Given the description of an element on the screen output the (x, y) to click on. 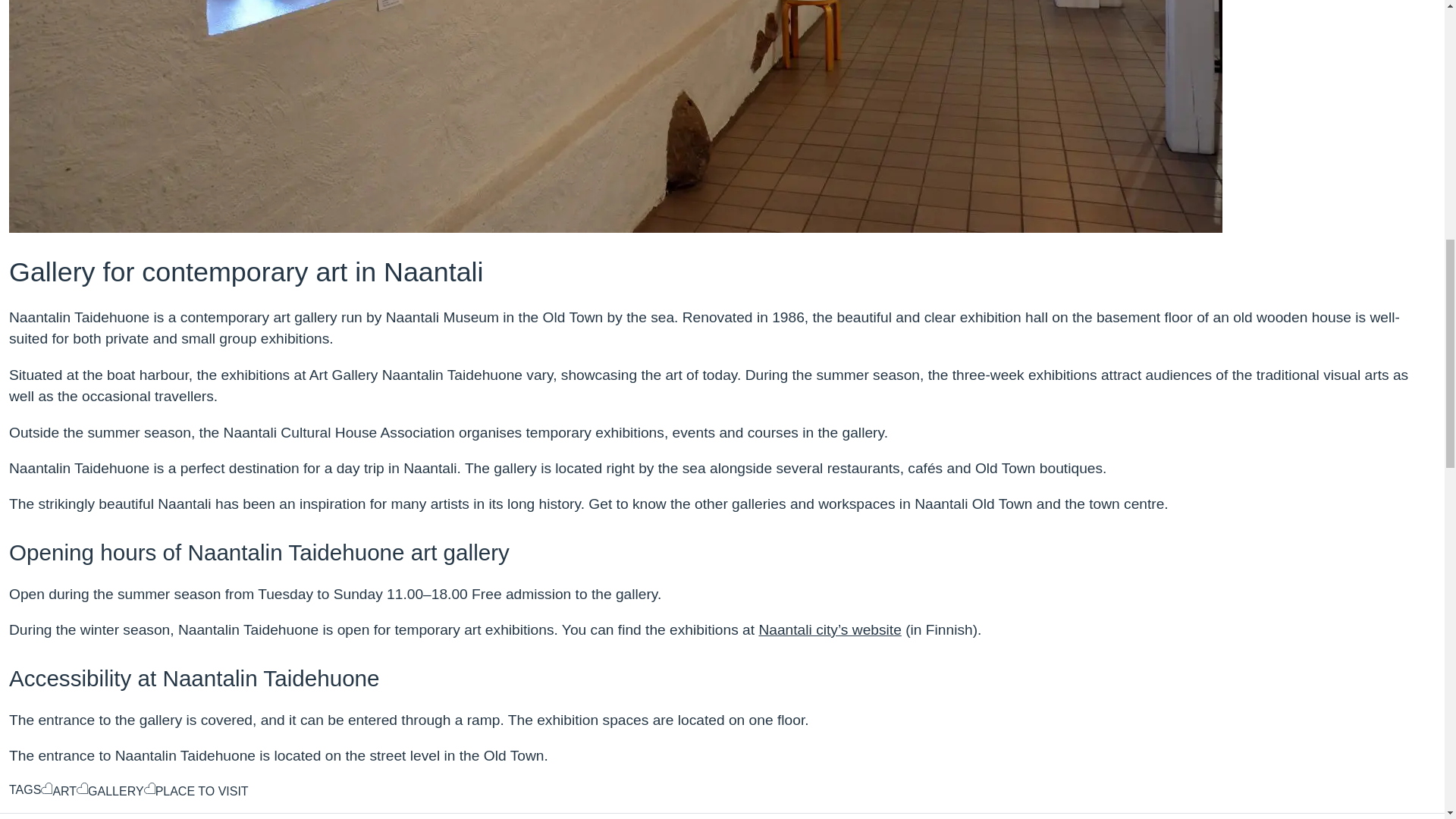
PLACE TO VISIT (196, 791)
gallery (110, 791)
place to visit (196, 791)
art (58, 791)
ART (58, 791)
GALLERY (110, 791)
